Given the description of an element on the screen output the (x, y) to click on. 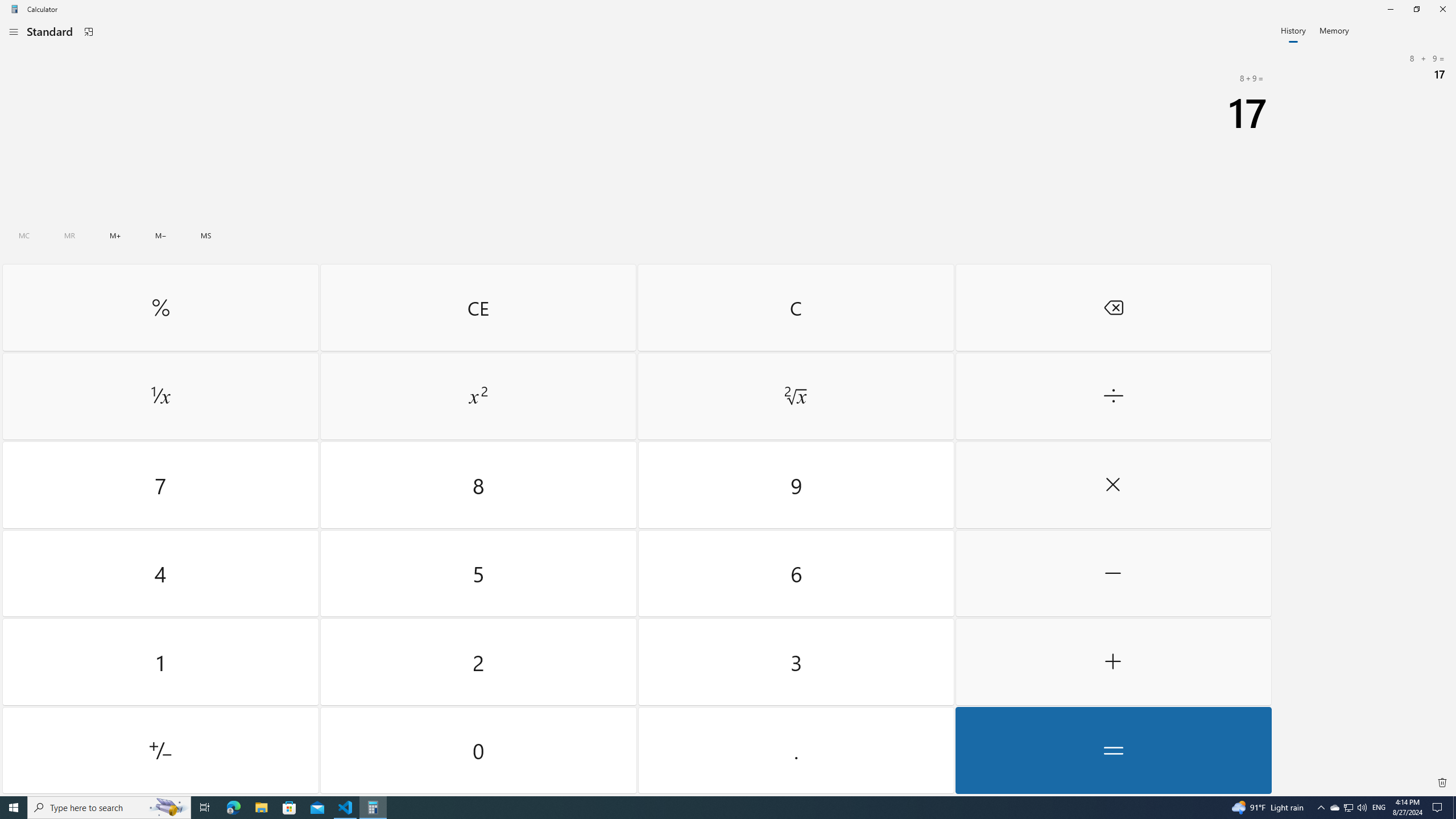
Backspace (1113, 307)
Four (160, 572)
Restore Calculator (1416, 9)
Multiply by (1113, 485)
Square root (795, 396)
Clear all memory (24, 235)
Close Calculator (1442, 9)
Action Center, No new notifications (1333, 807)
Memory subtract (1439, 807)
Task View (160, 235)
Q2790: 100% (204, 807)
Tray Input Indicator - English (United States) (1361, 807)
Decimal separator (1378, 807)
Microsoft Store (795, 749)
